Given the description of an element on the screen output the (x, y) to click on. 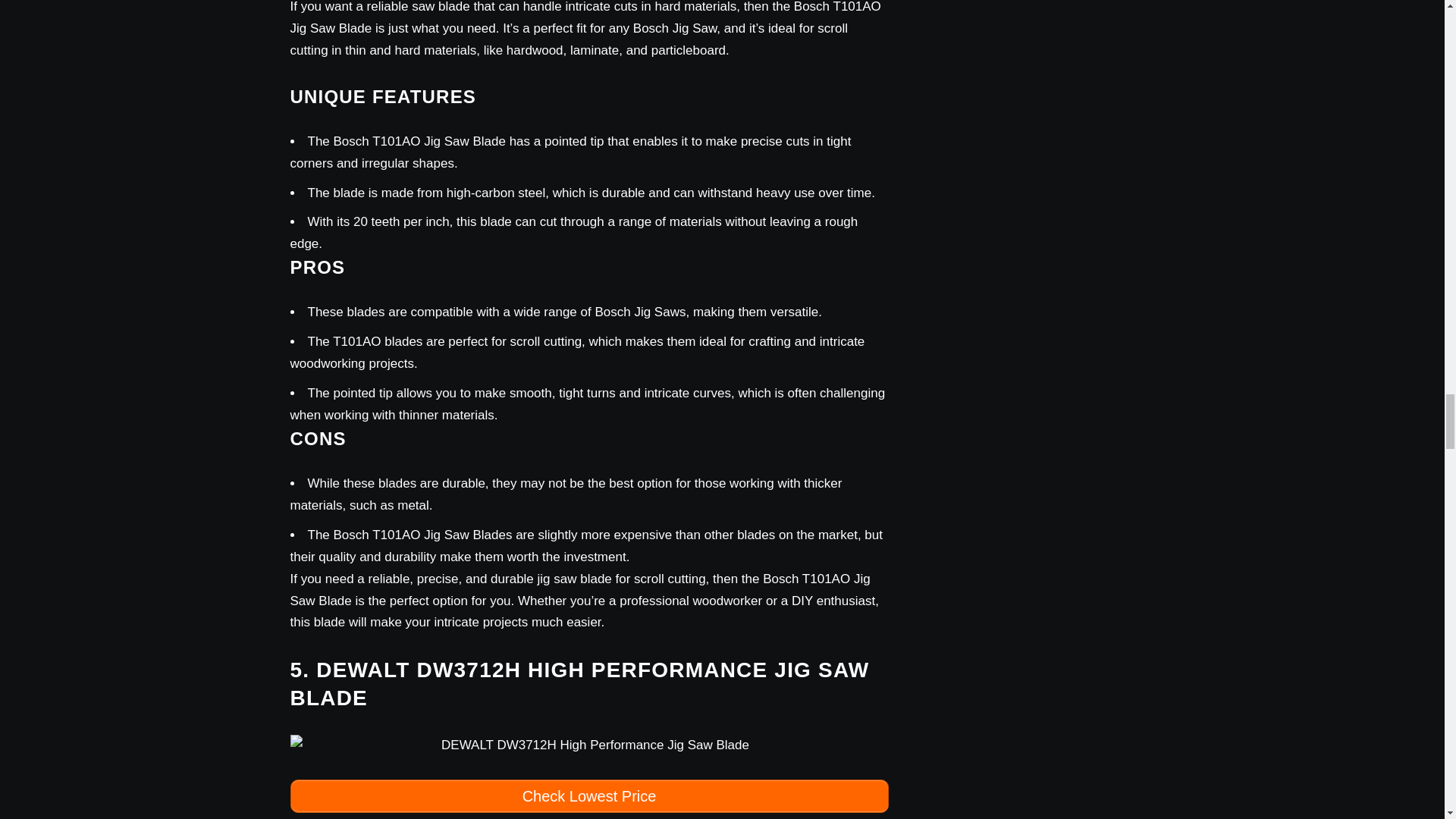
Check Lowest Price (588, 796)
